Given the description of an element on the screen output the (x, y) to click on. 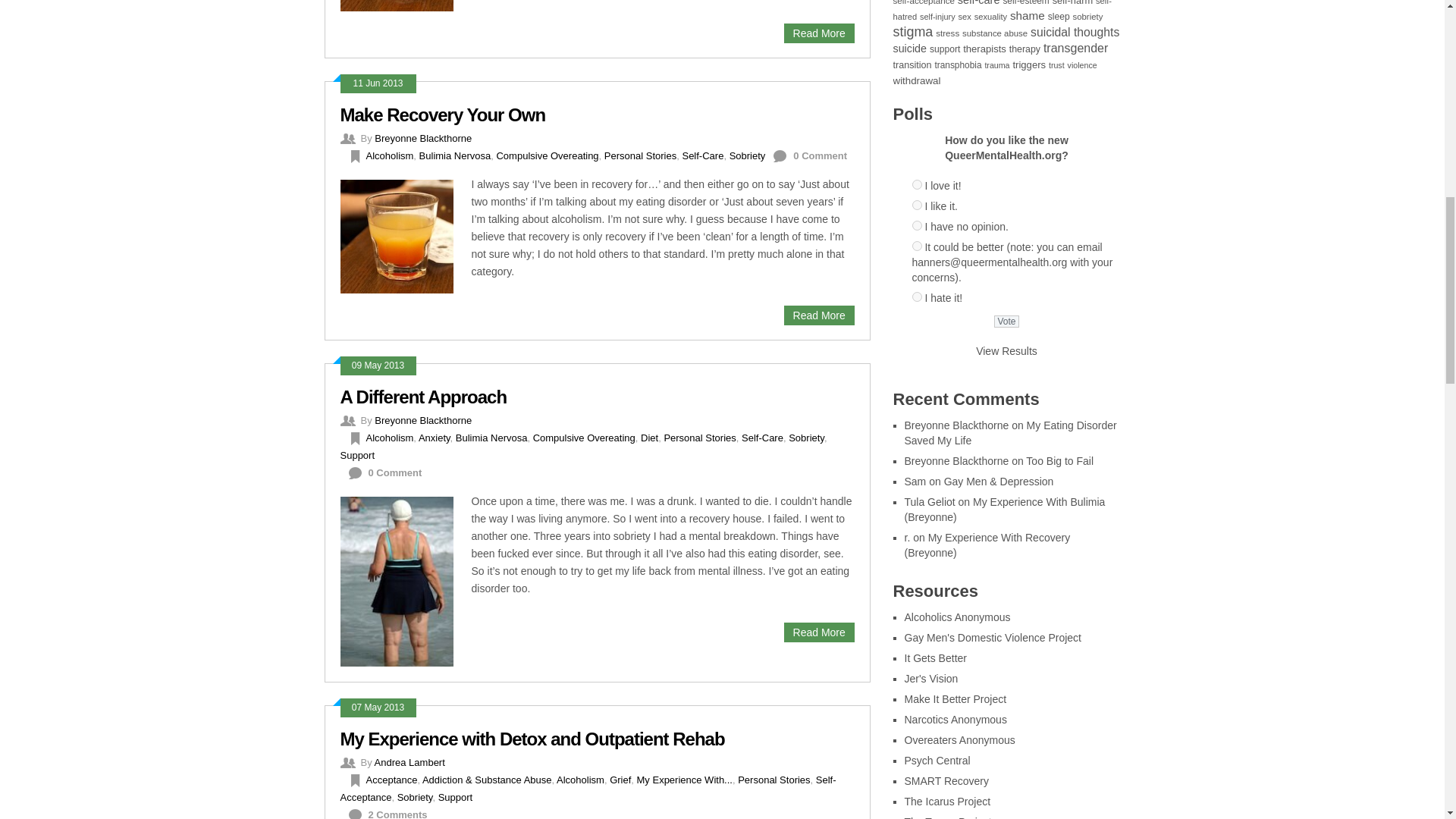
 Vote  (1006, 321)
Read More (819, 33)
Make Recovery Your Own (441, 114)
35 (916, 204)
38 (916, 296)
34 (916, 184)
37 (916, 245)
36 (916, 225)
